Given the description of an element on the screen output the (x, y) to click on. 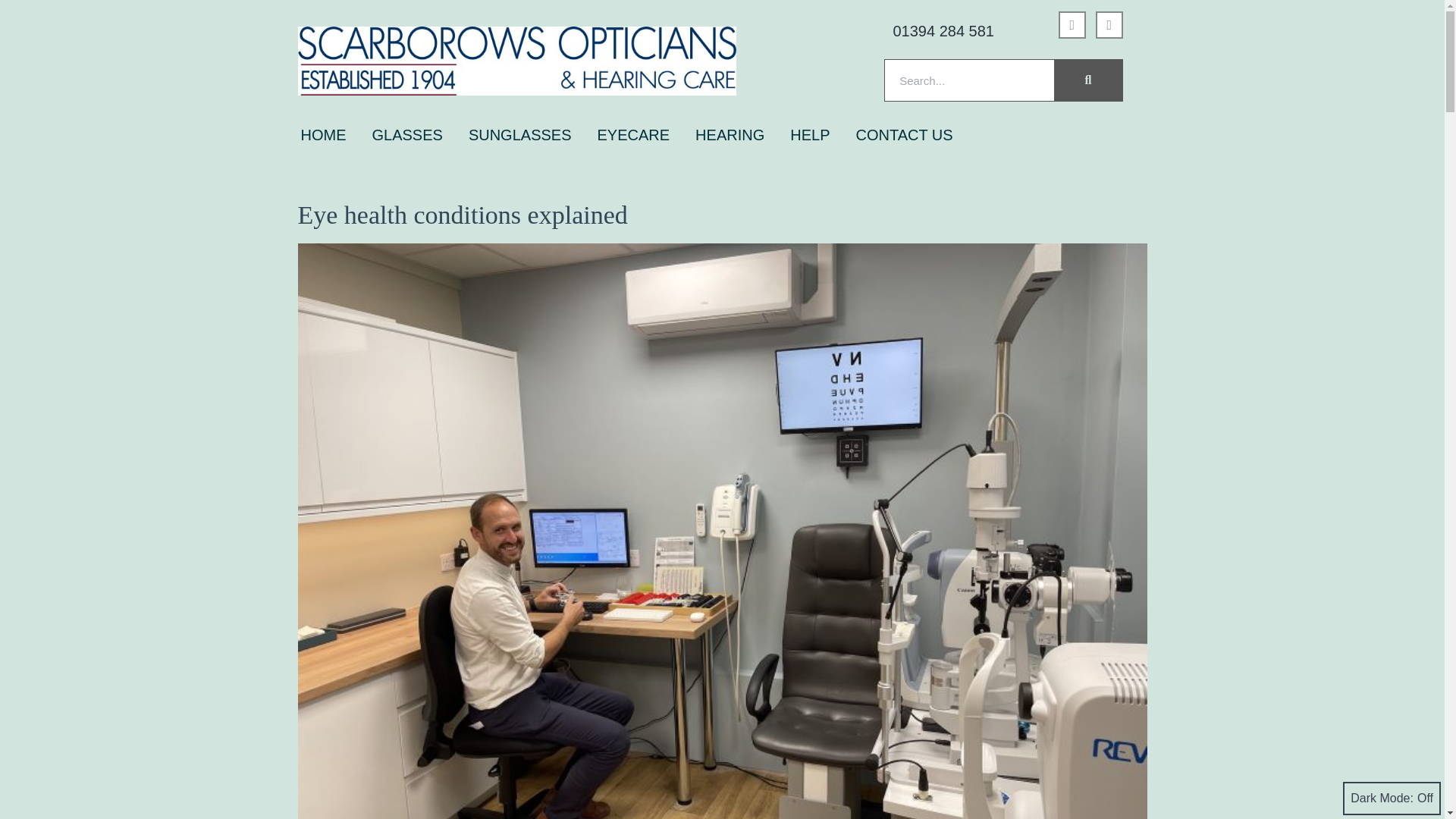
HELP (809, 135)
HOME (323, 135)
GLASSES (406, 135)
01394 284 581 (942, 30)
EYECARE (633, 135)
HEARING (729, 135)
SUNGLASSES (520, 135)
